Given the description of an element on the screen output the (x, y) to click on. 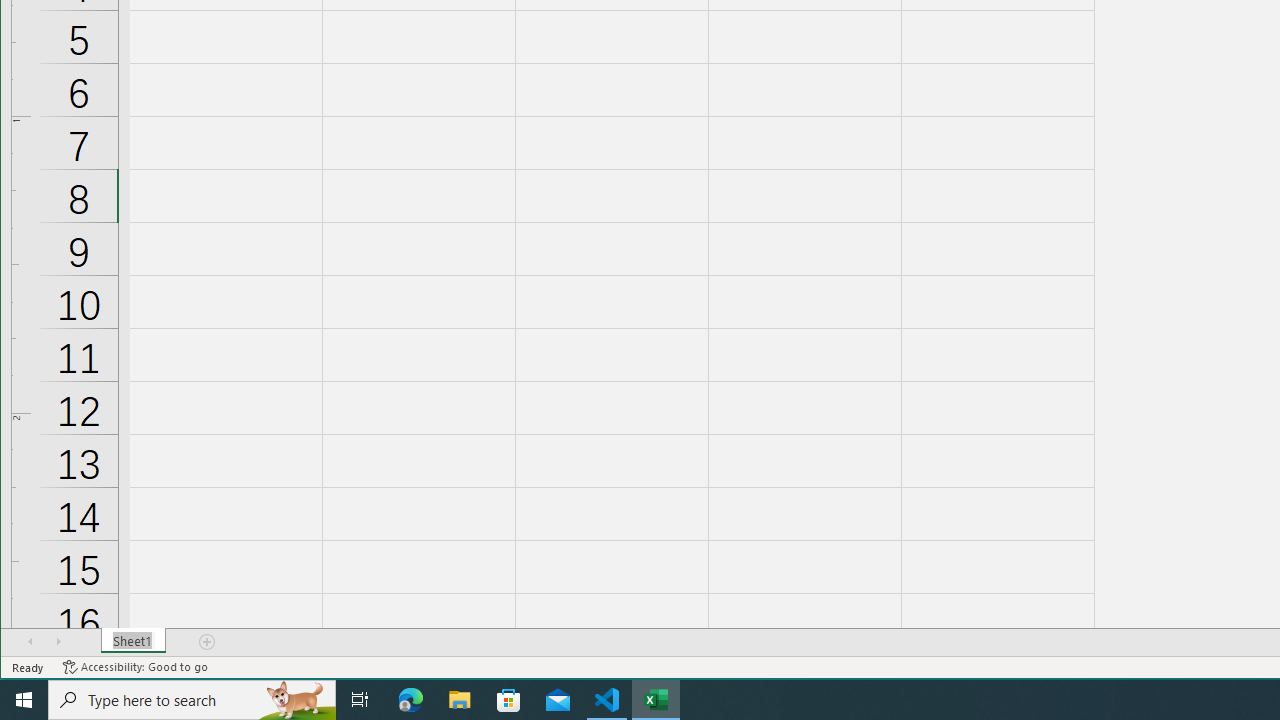
Microsoft Store (509, 699)
Sheet Tab (133, 641)
Start (24, 699)
Visual Studio Code - 1 running window (607, 699)
Excel - 1 running window (656, 699)
File Explorer (460, 699)
Search highlights icon opens search home window (295, 699)
Microsoft Edge (411, 699)
Task View (359, 699)
Type here to search (191, 699)
